Given the description of an element on the screen output the (x, y) to click on. 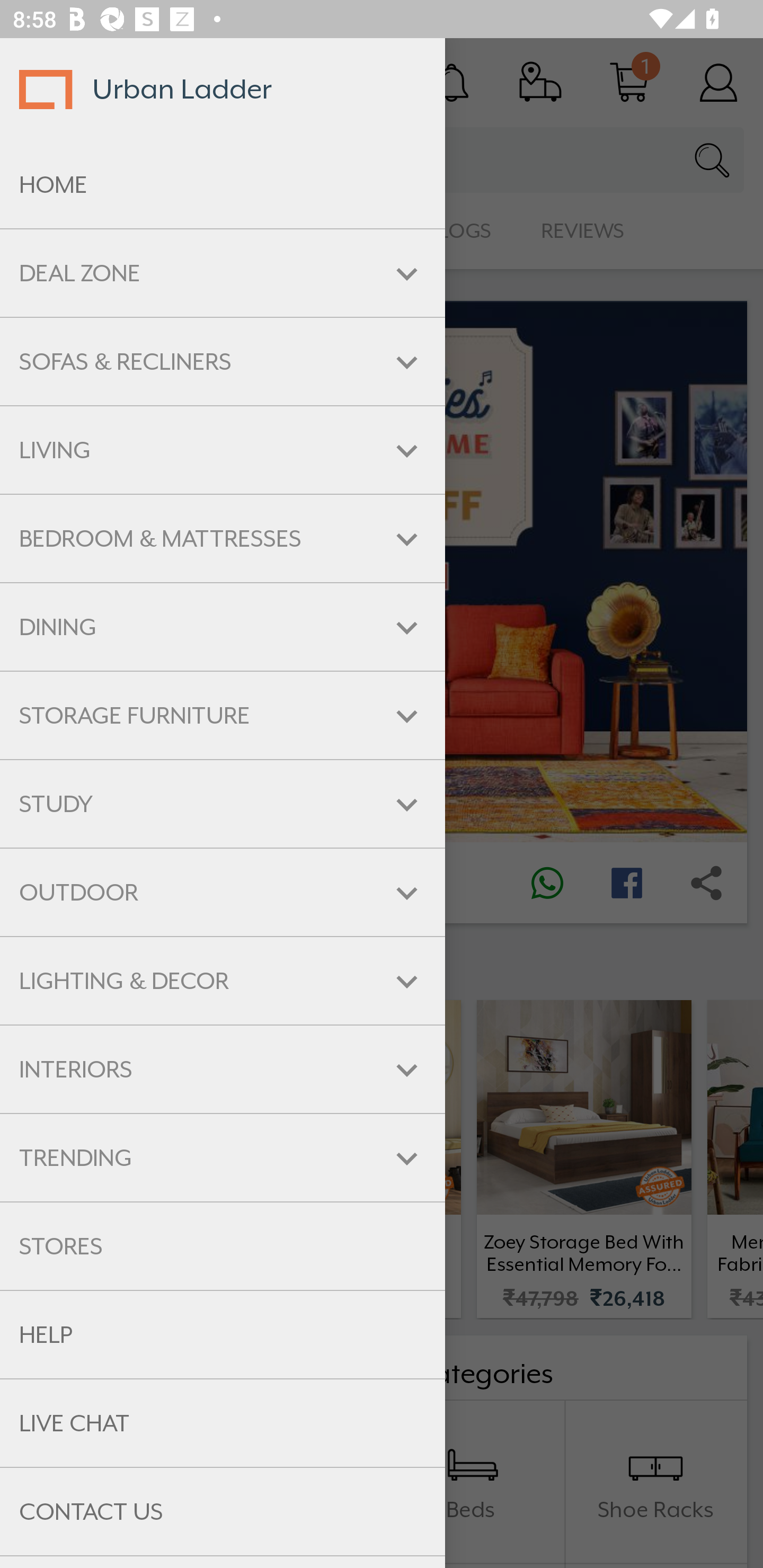
Urban Ladder (222, 89)
HOME (222, 184)
DEAL ZONE  (222, 273)
SOFAS & RECLINERS  (222, 361)
LIVING  (222, 450)
BEDROOM & MATTRESSES  (222, 538)
DINING  (222, 627)
STORAGE FURNITURE  (222, 715)
STUDY  (222, 803)
OUTDOOR  (222, 892)
LIGHTING & DECOR  (222, 980)
INTERIORS  (222, 1069)
TRENDING  (222, 1157)
STORES (222, 1246)
HELP (222, 1334)
LIVE CHAT (222, 1422)
CONTACT US (222, 1512)
